Given the description of an element on the screen output the (x, y) to click on. 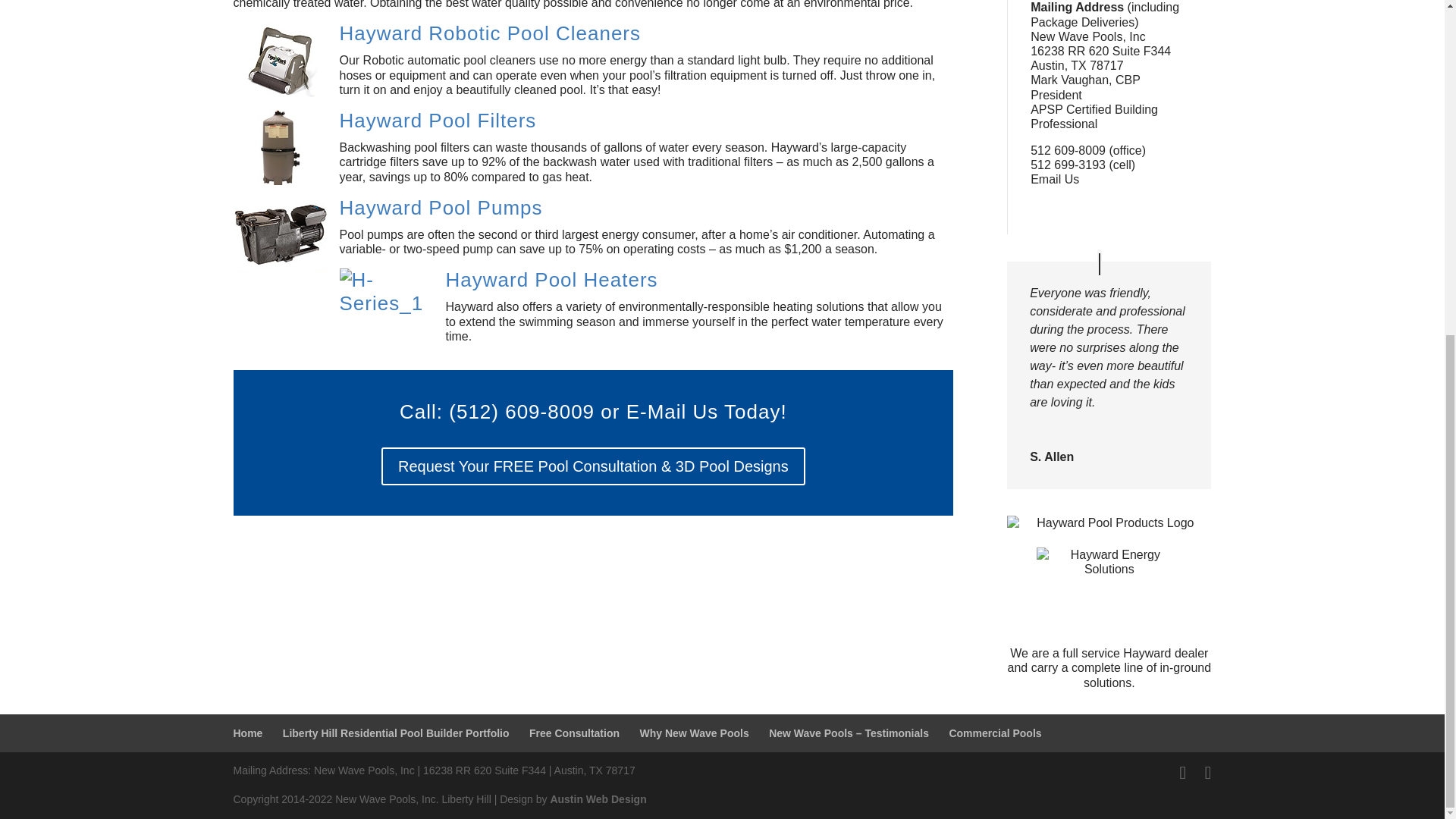
Liberty Hill Residential Pool Builder Portfolio (395, 733)
Email Us (1054, 178)
512 699-3193 (1067, 164)
Home (247, 733)
